Given the description of an element on the screen output the (x, y) to click on. 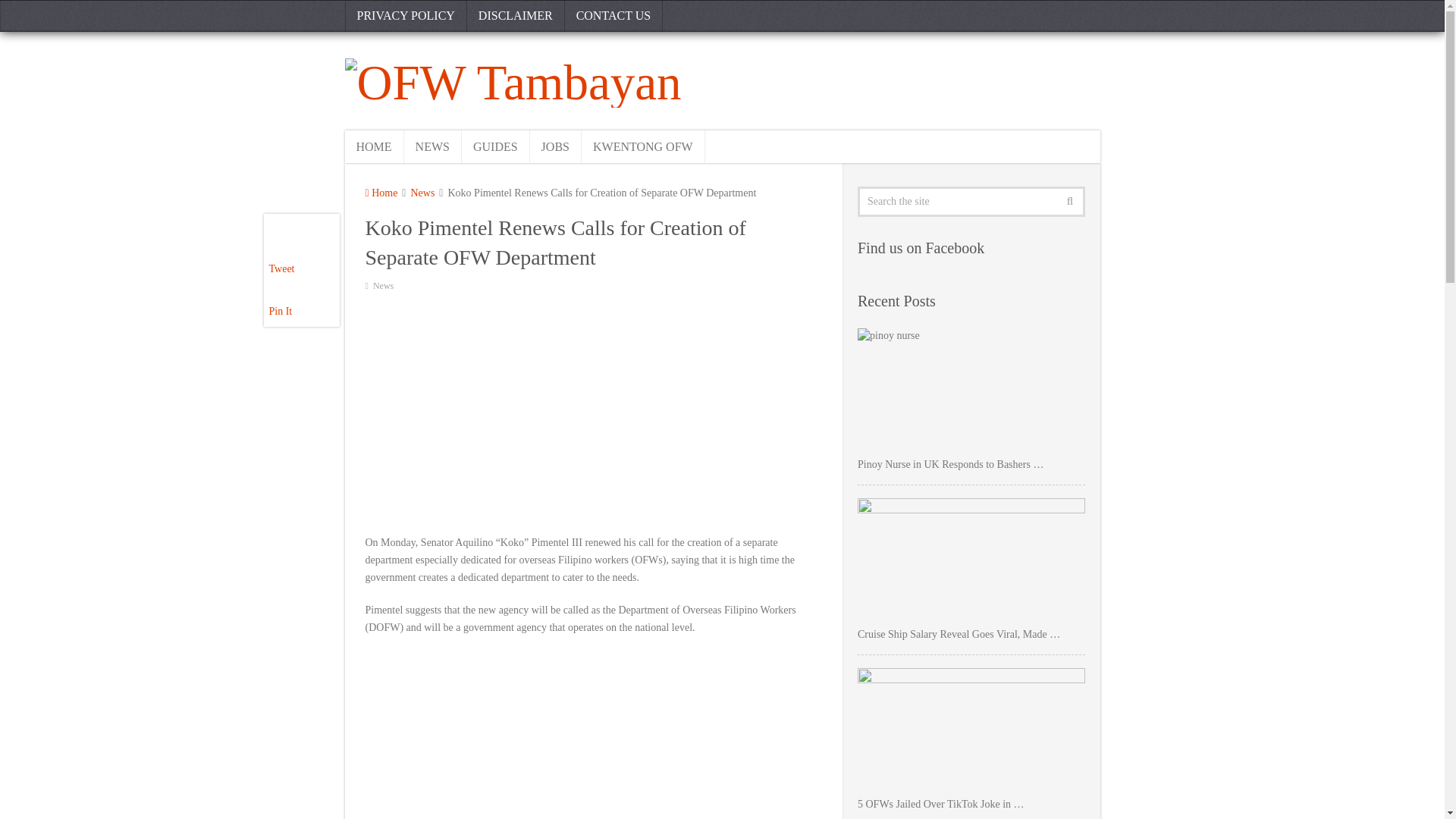
News (421, 193)
JOBS (554, 146)
HOME (373, 146)
Advertisement (593, 735)
NEWS (432, 146)
Tweet (280, 268)
KWENTONG OFW (642, 146)
News (382, 285)
PRIVACY POLICY (404, 15)
View all posts in News (382, 285)
Advertisement (593, 412)
DISCLAIMER (515, 15)
Pin It (279, 310)
